Given the description of an element on the screen output the (x, y) to click on. 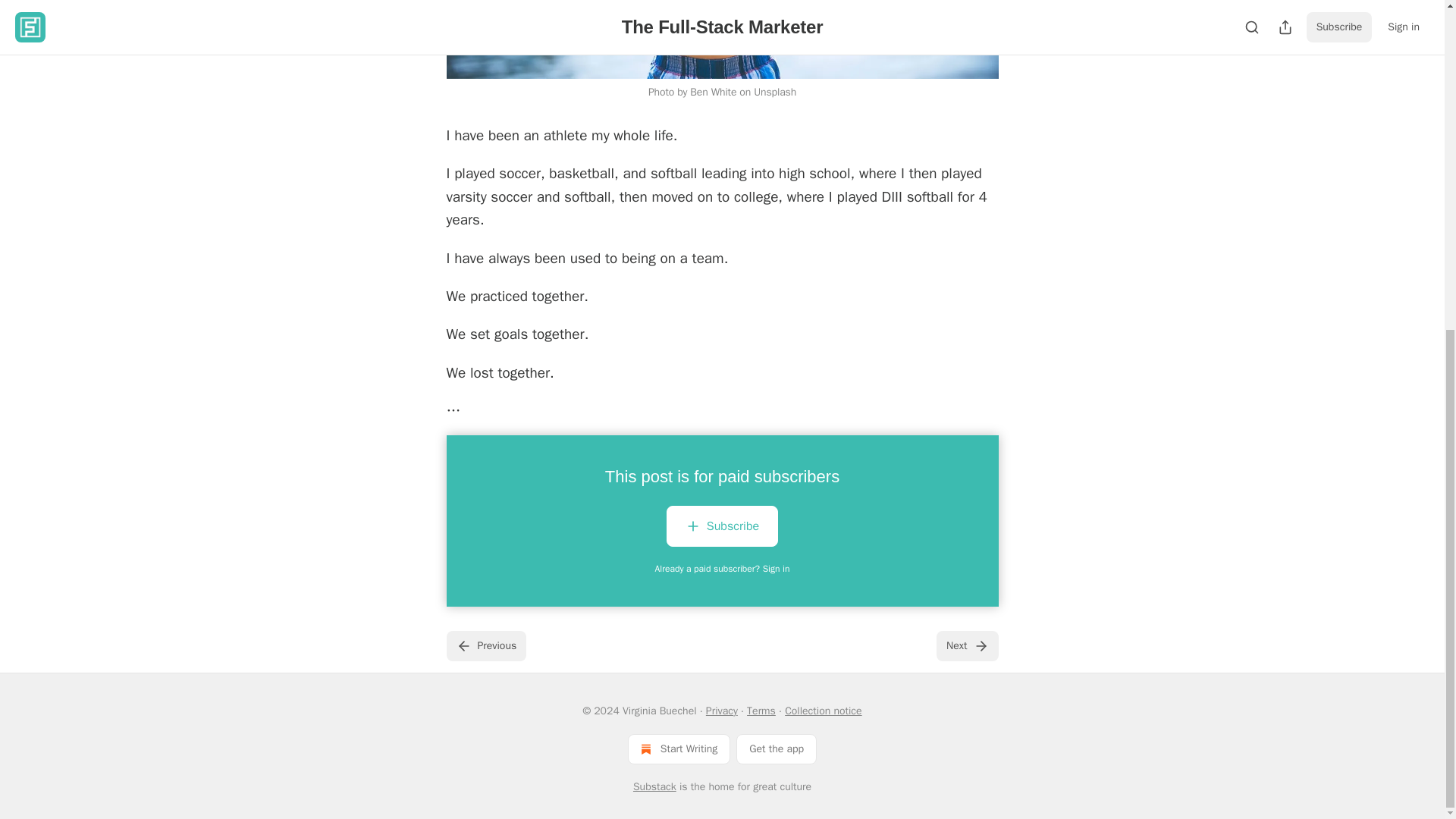
Next (966, 645)
Get the app (776, 748)
Subscribe (721, 526)
Already a paid subscriber? Sign in (722, 568)
Substack (655, 786)
Collection notice (822, 710)
Previous (485, 645)
Start Writing (678, 748)
Subscribe (721, 529)
Privacy (722, 710)
